Given the description of an element on the screen output the (x, y) to click on. 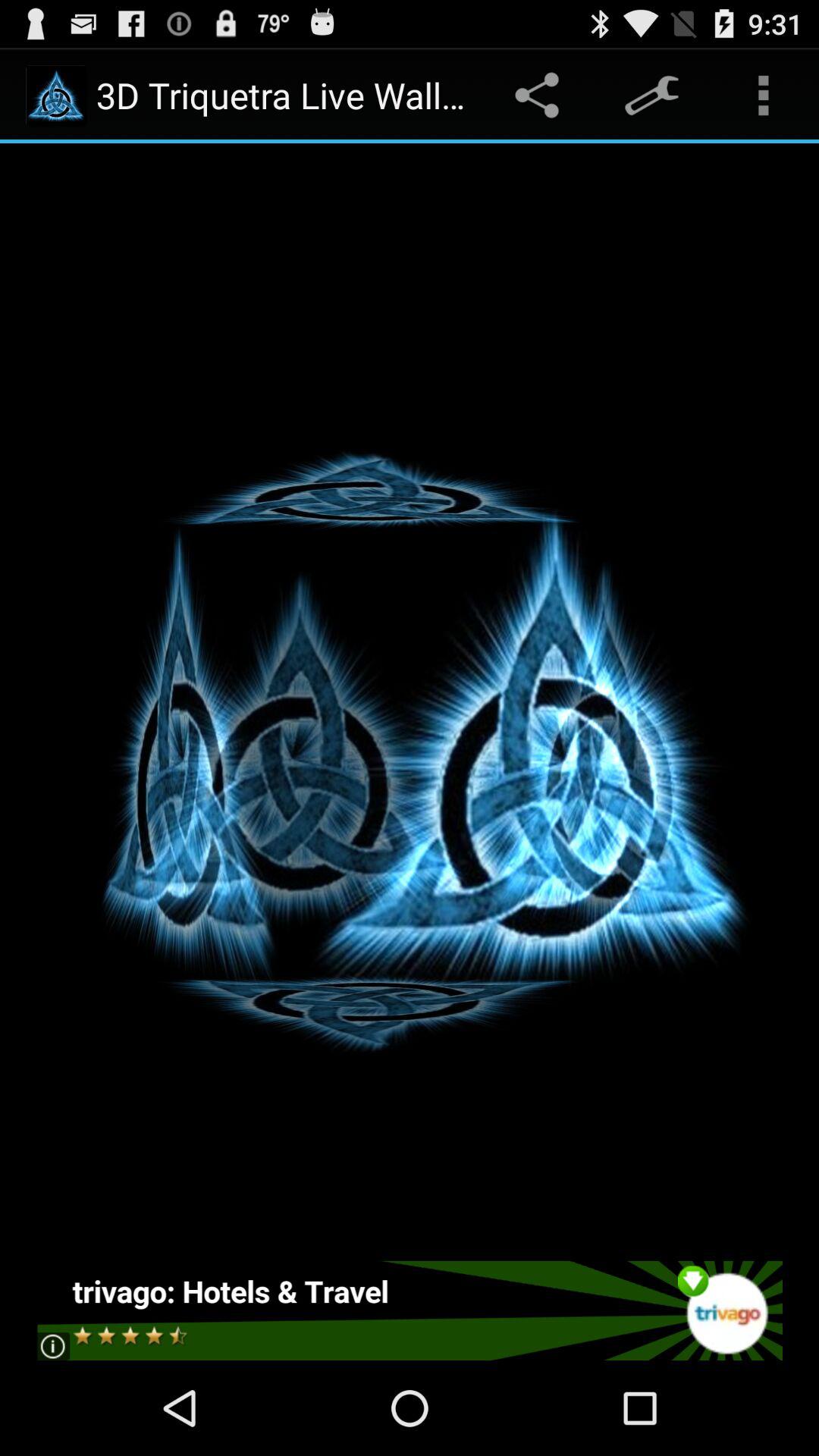
report your ratings (408, 1310)
